Given the description of an element on the screen output the (x, y) to click on. 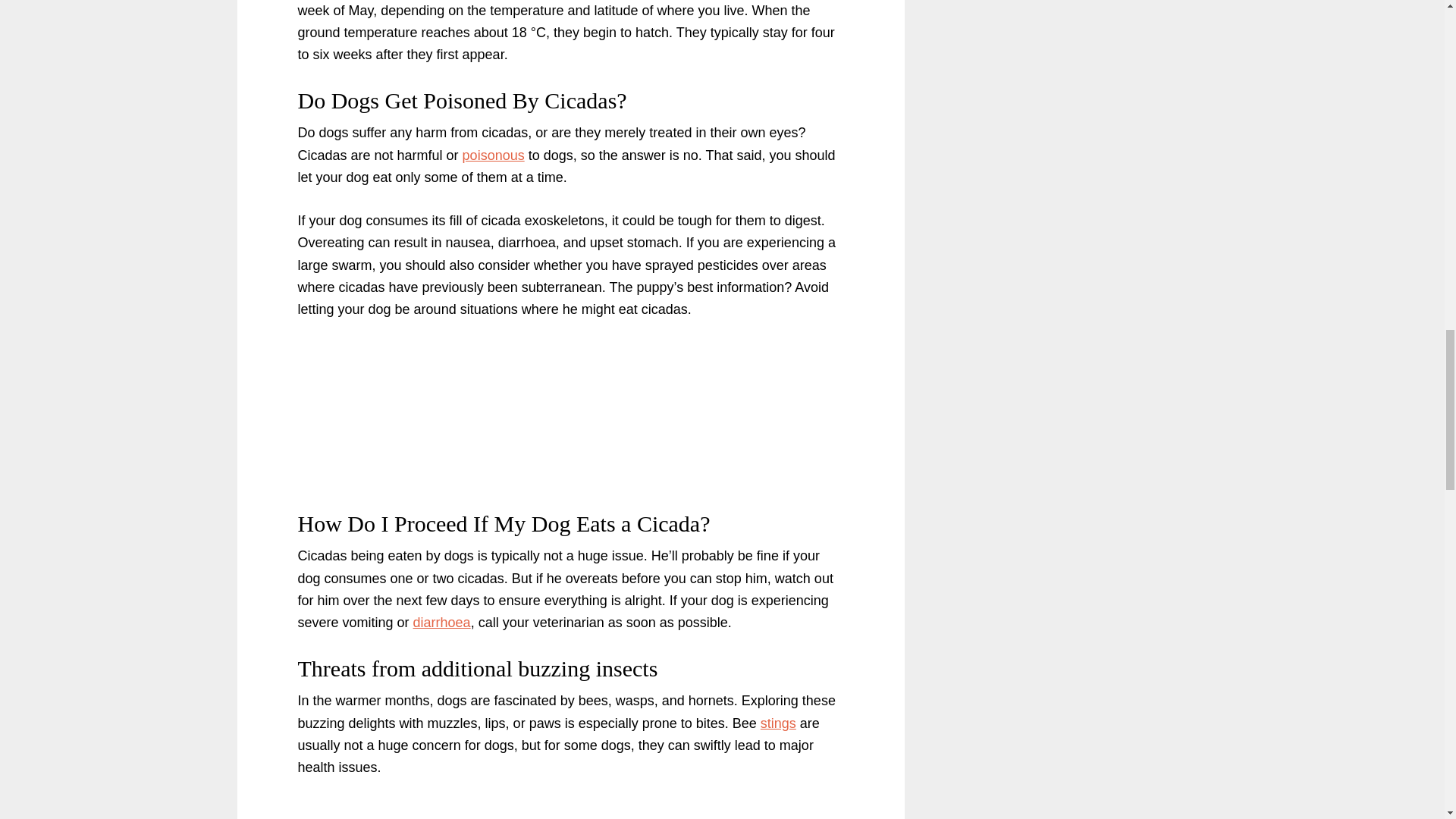
diarrhoea (441, 622)
stings (778, 723)
poisonous (493, 155)
